Given the description of an element on the screen output the (x, y) to click on. 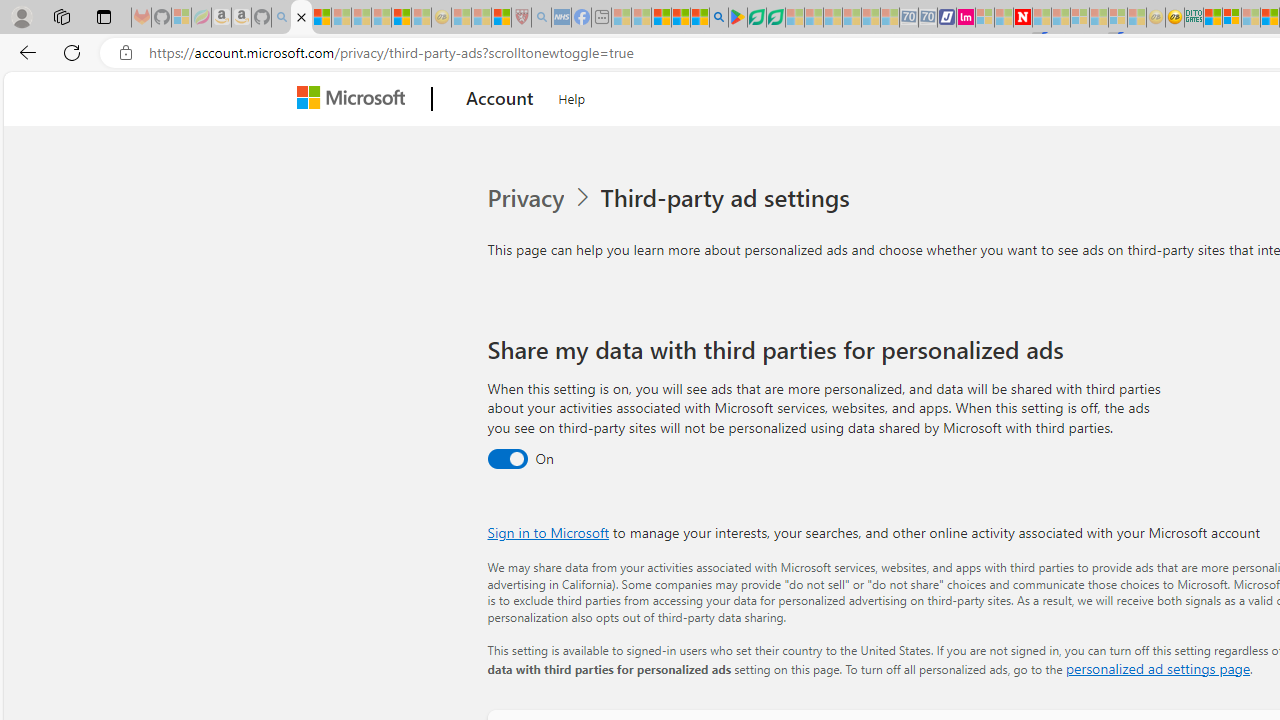
Terms of Use Agreement (756, 17)
Third-party ad settings (729, 197)
Account (499, 99)
